Given the description of an element on the screen output the (x, y) to click on. 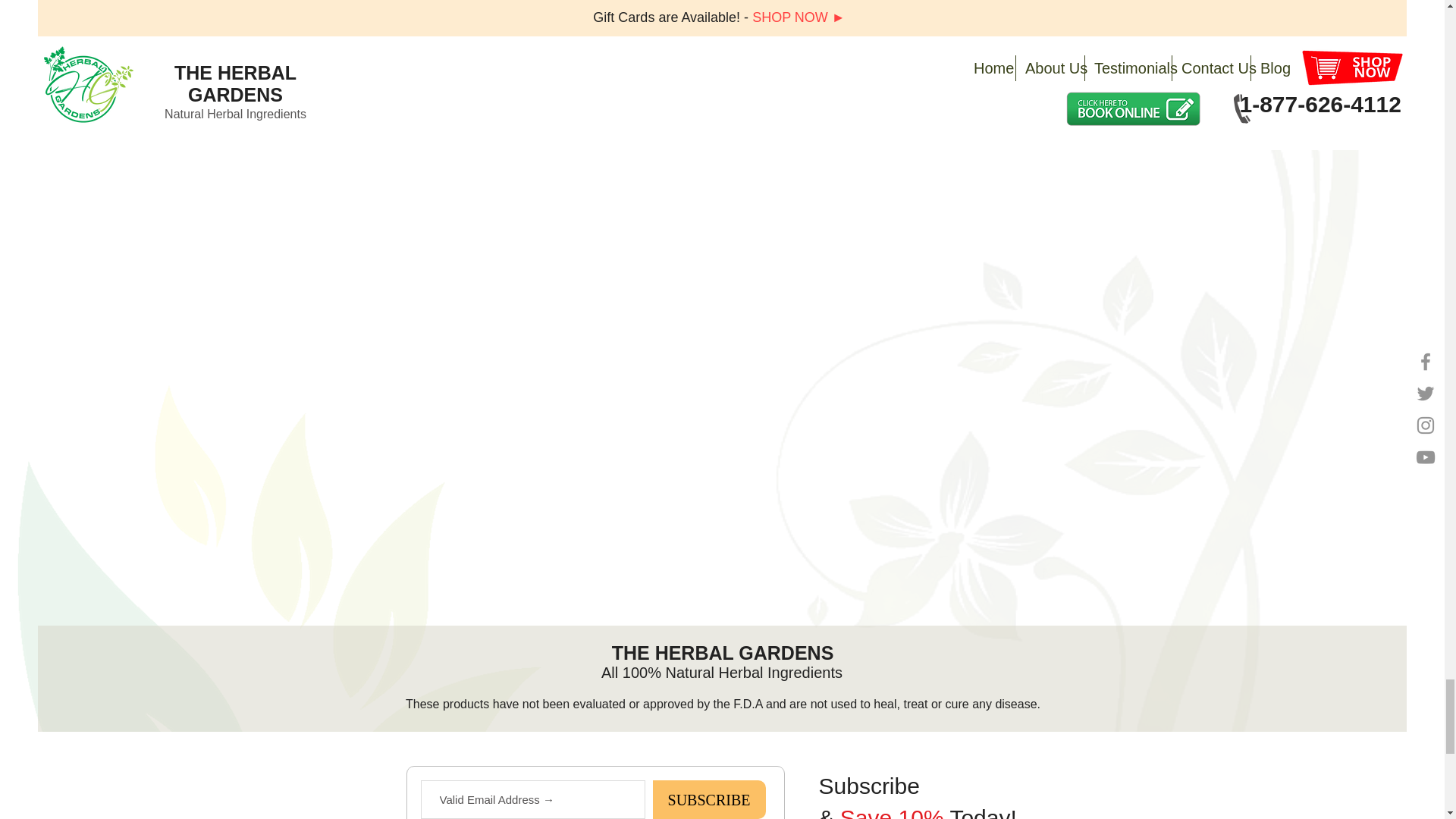
SUBSCRIBE (708, 799)
THE HERBAL GARDENS (722, 652)
